Given the description of an element on the screen output the (x, y) to click on. 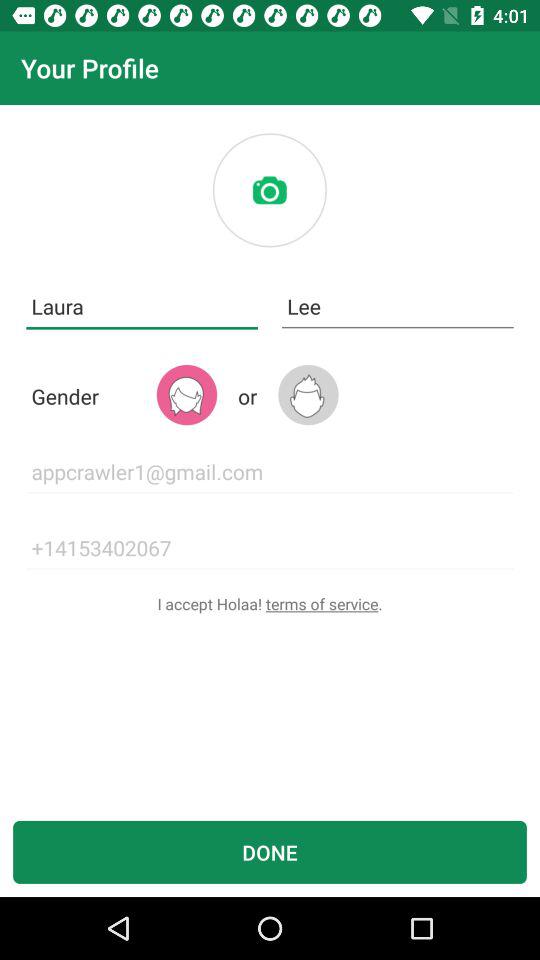
male (308, 394)
